Given the description of an element on the screen output the (x, y) to click on. 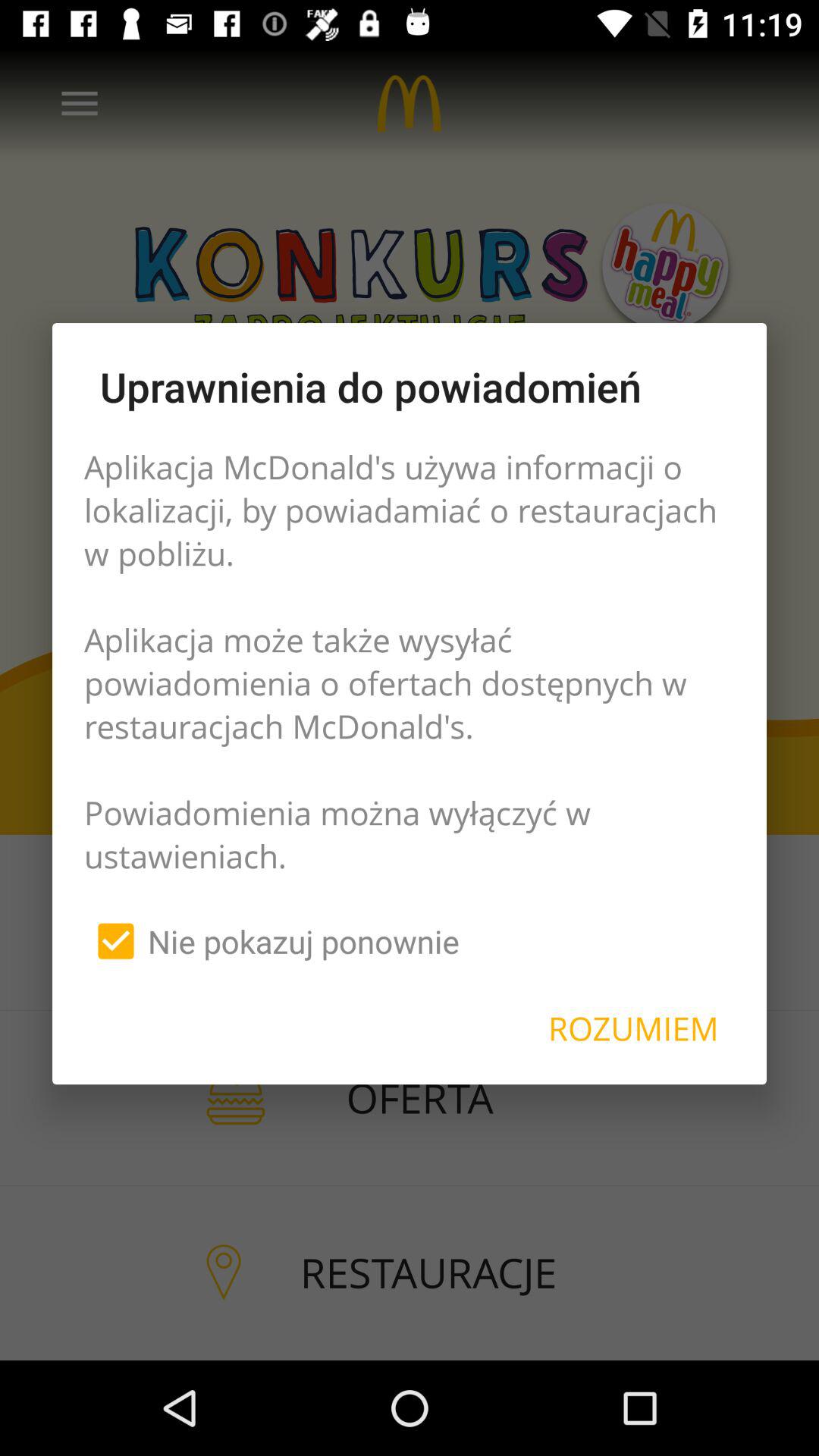
click rozumiem (633, 1028)
